Given the description of an element on the screen output the (x, y) to click on. 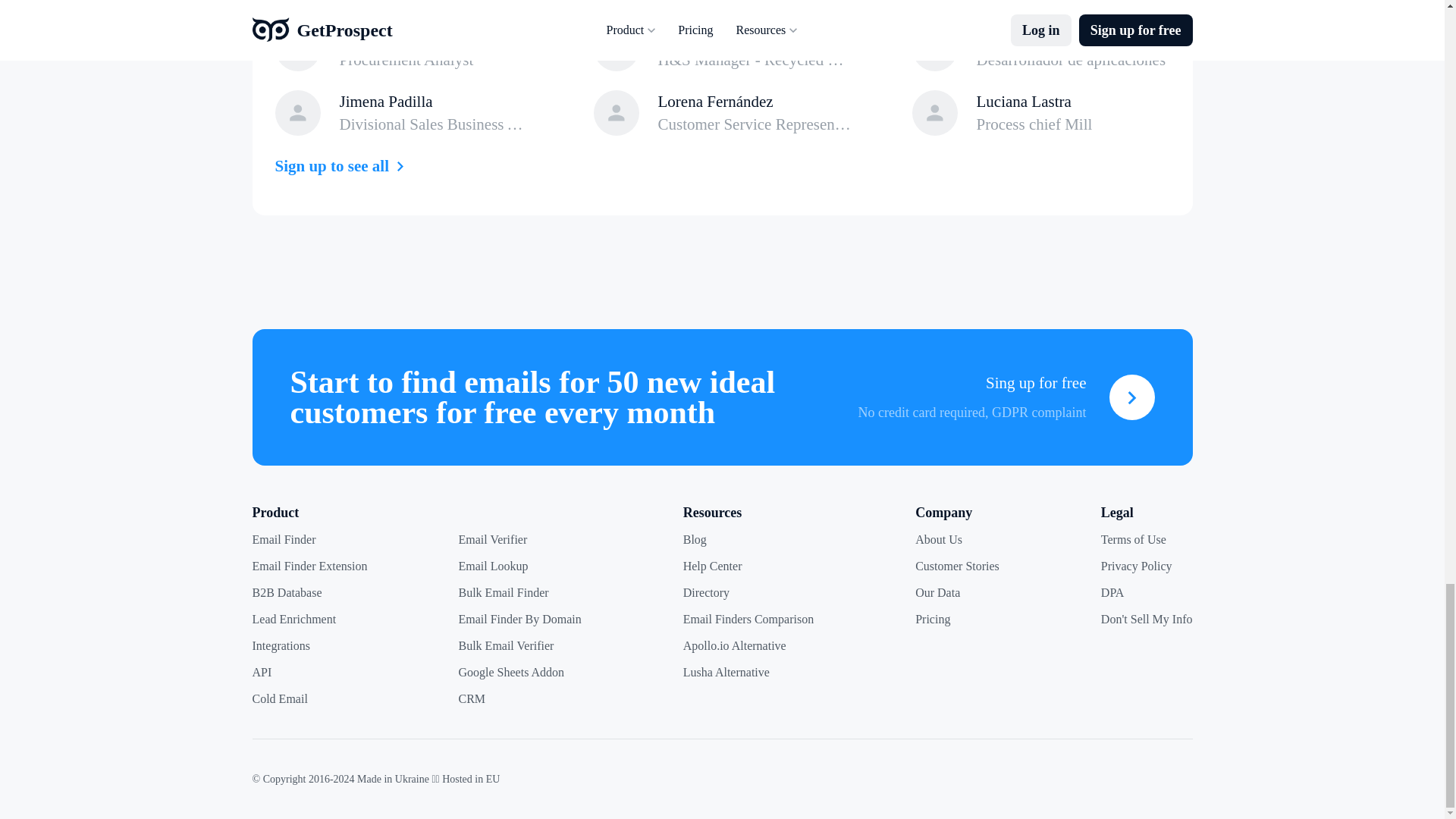
Sign up to see all (343, 165)
Email Finder (283, 539)
